Given the description of an element on the screen output the (x, y) to click on. 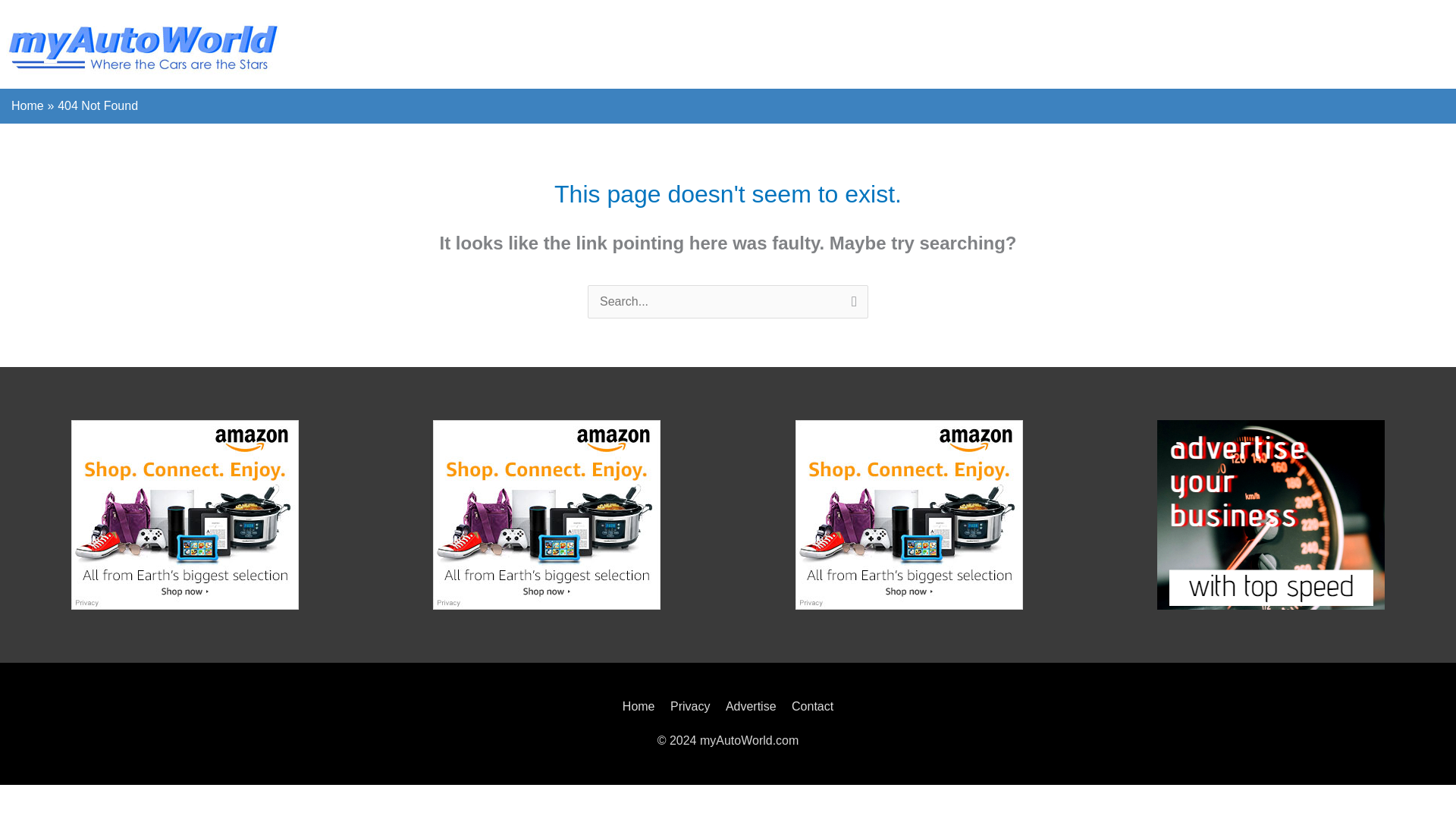
Advertise (751, 706)
Contact (809, 706)
Home (642, 706)
Privacy (689, 706)
Home (27, 105)
